Given the description of an element on the screen output the (x, y) to click on. 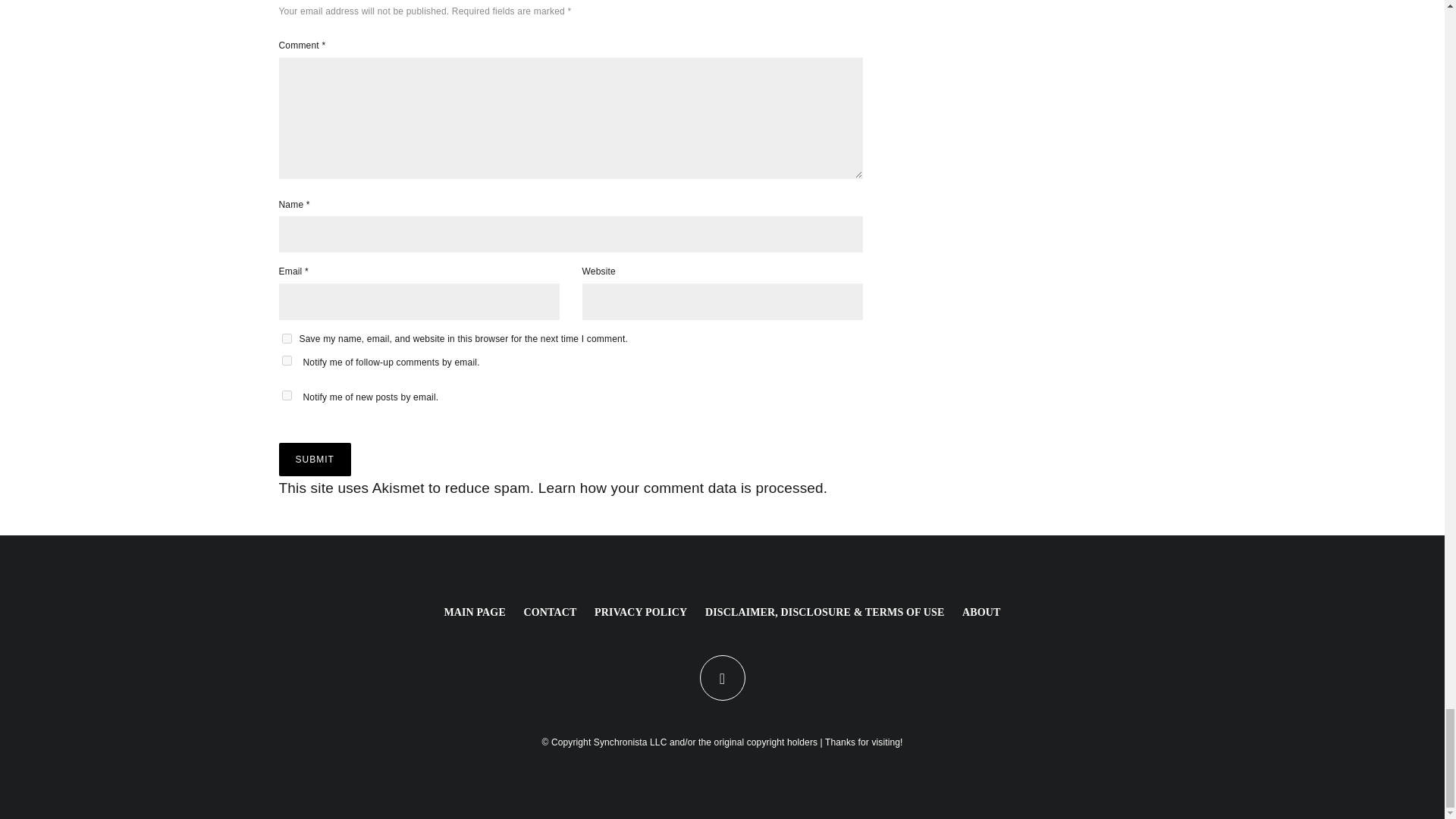
Submit (314, 459)
subscribe (287, 360)
yes (287, 338)
subscribe (287, 395)
